Given the description of an element on the screen output the (x, y) to click on. 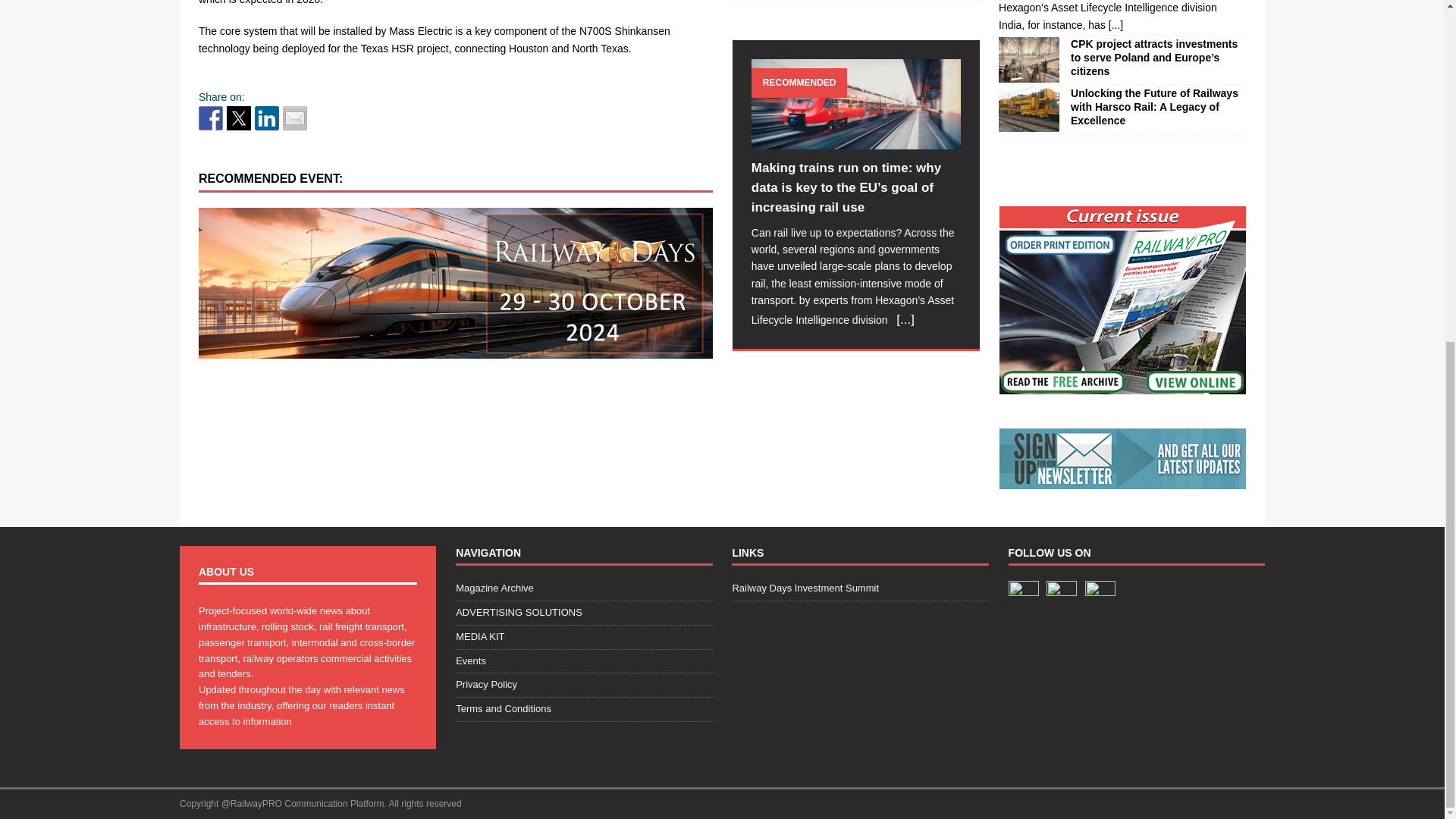
Share on Linkedin (266, 118)
Share by email (294, 118)
Share on Facebook (210, 118)
Share on Twitter (238, 118)
